Given the description of an element on the screen output the (x, y) to click on. 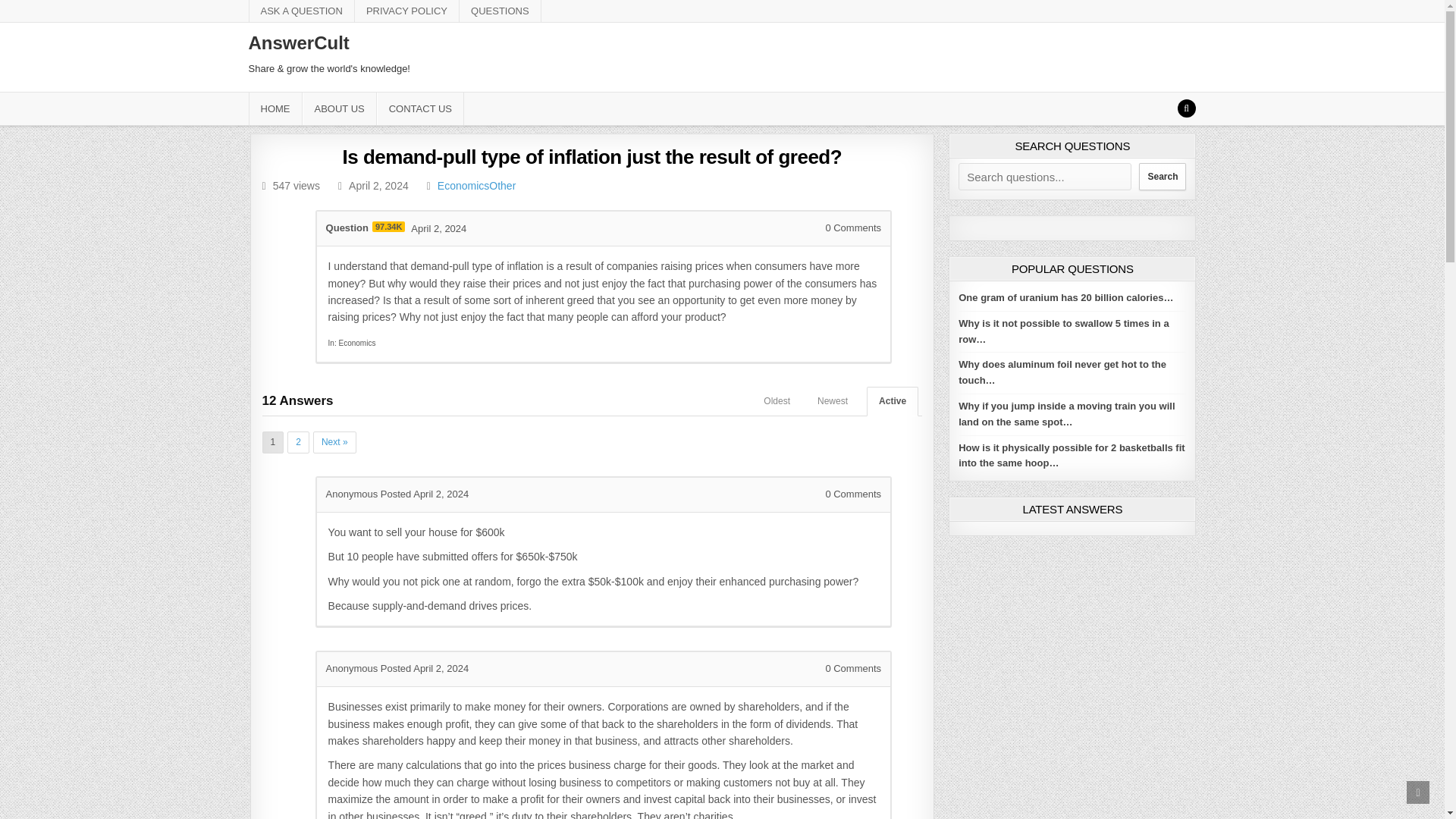
Active (892, 401)
Other (502, 185)
Posted April 2, 2024 (424, 493)
Scroll to Top (1417, 792)
Search (1185, 108)
Oldest (776, 401)
ASK A QUESTION (301, 11)
CONTACT US (420, 108)
Newest (832, 401)
97.34K (388, 226)
